Given the description of an element on the screen output the (x, y) to click on. 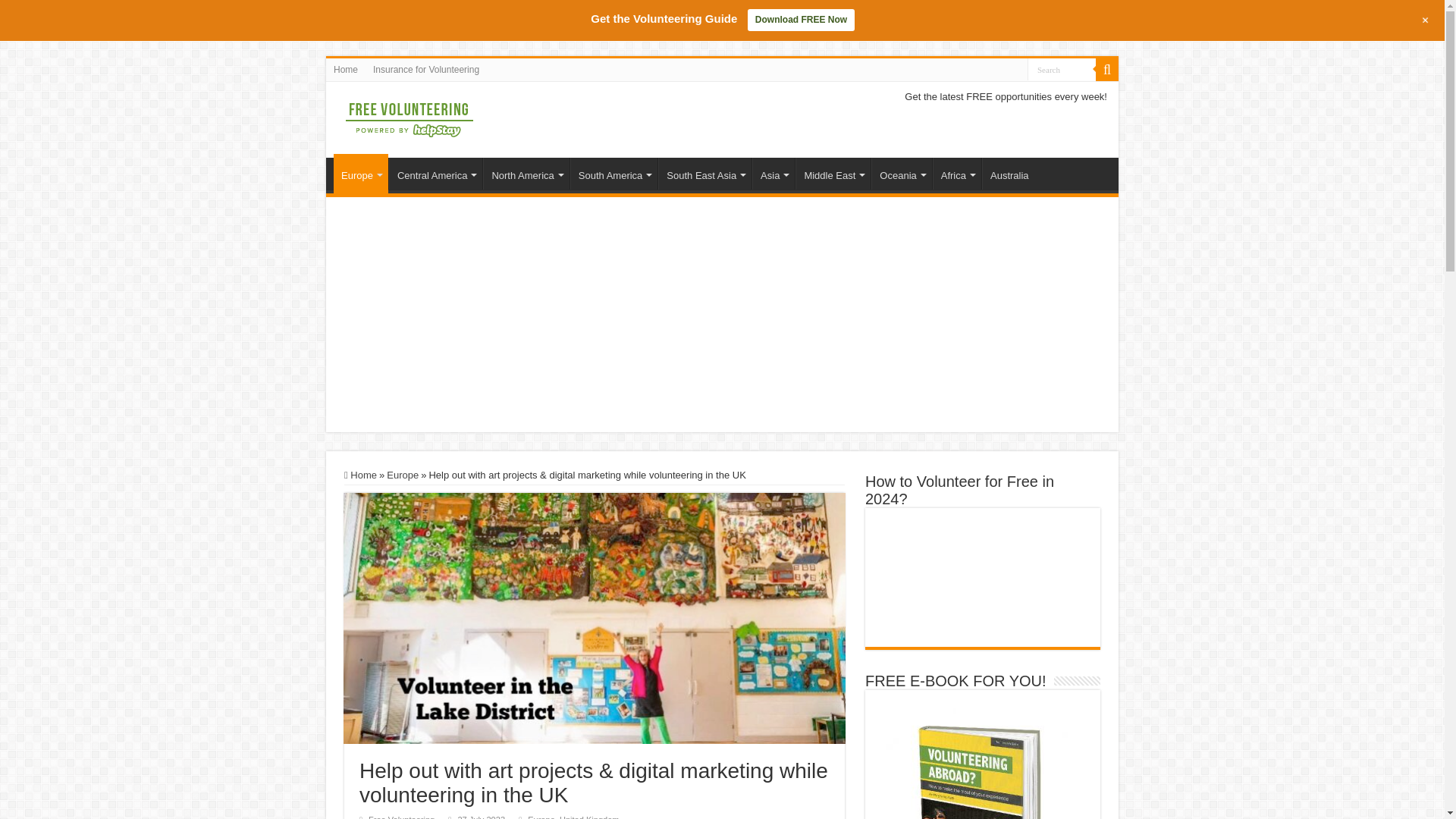
Search (1061, 69)
Home (345, 69)
Search (1061, 69)
Search (1061, 69)
